Given the description of an element on the screen output the (x, y) to click on. 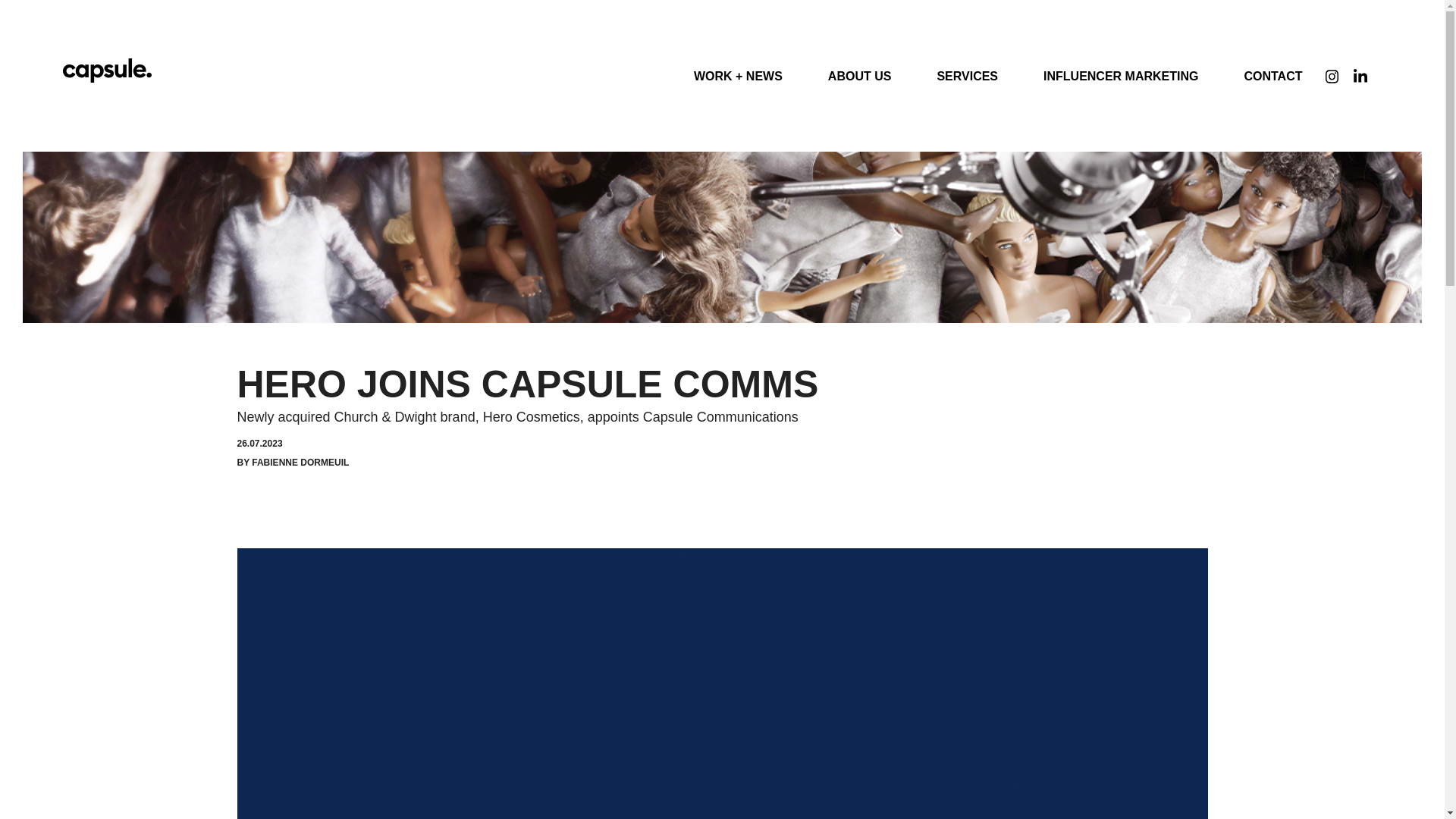
ABOUT US (860, 75)
INFLUENCER MARKETING (1120, 75)
CONTACT (1272, 75)
SERVICES (967, 75)
